Given the description of an element on the screen output the (x, y) to click on. 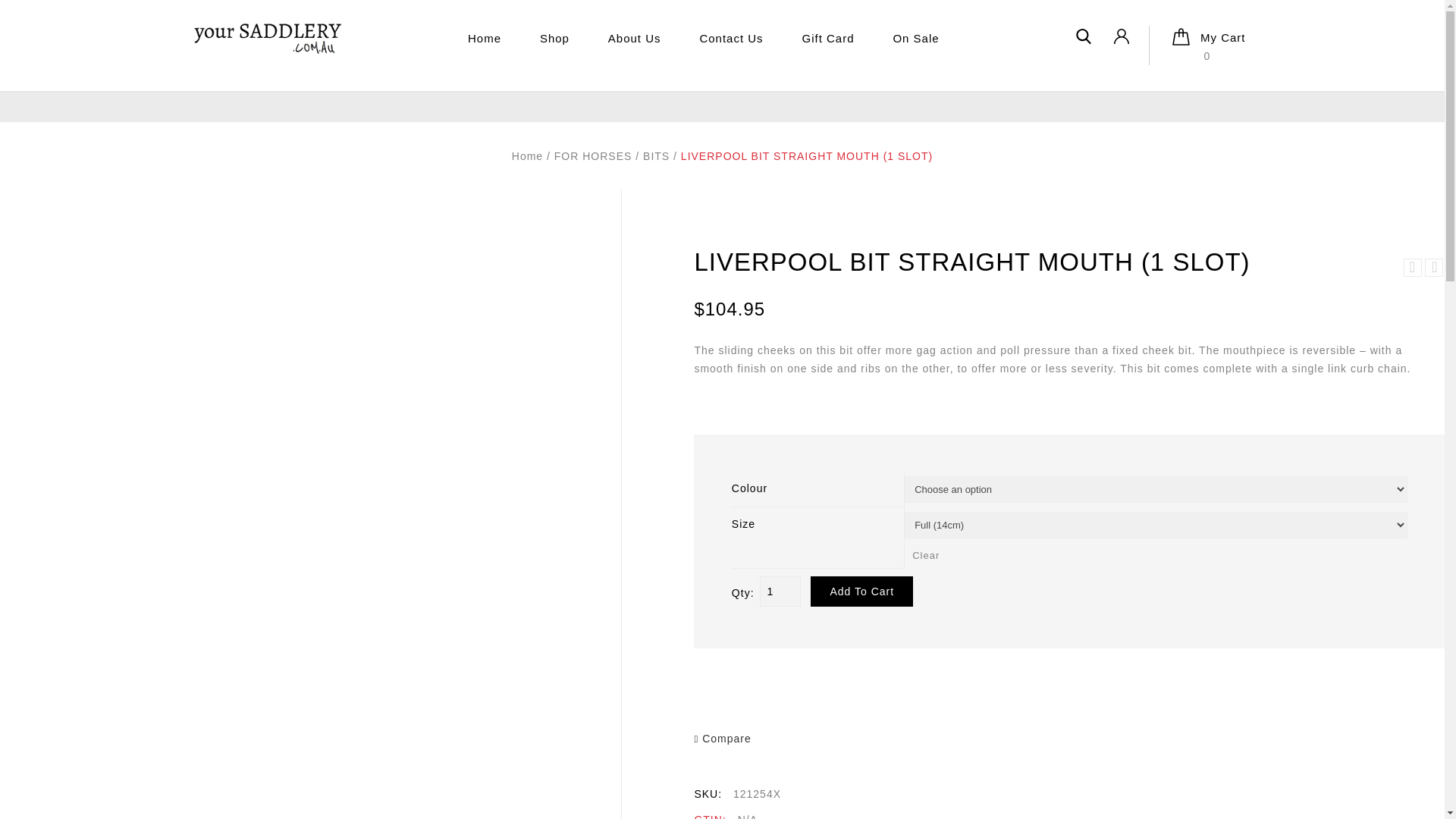
Your Saddlery (266, 37)
Qty (780, 591)
About Us (634, 38)
View your shopping cart (1206, 55)
View your shopping cart (1206, 45)
1 (780, 591)
Shop (554, 38)
Home (483, 38)
